Given the description of an element on the screen output the (x, y) to click on. 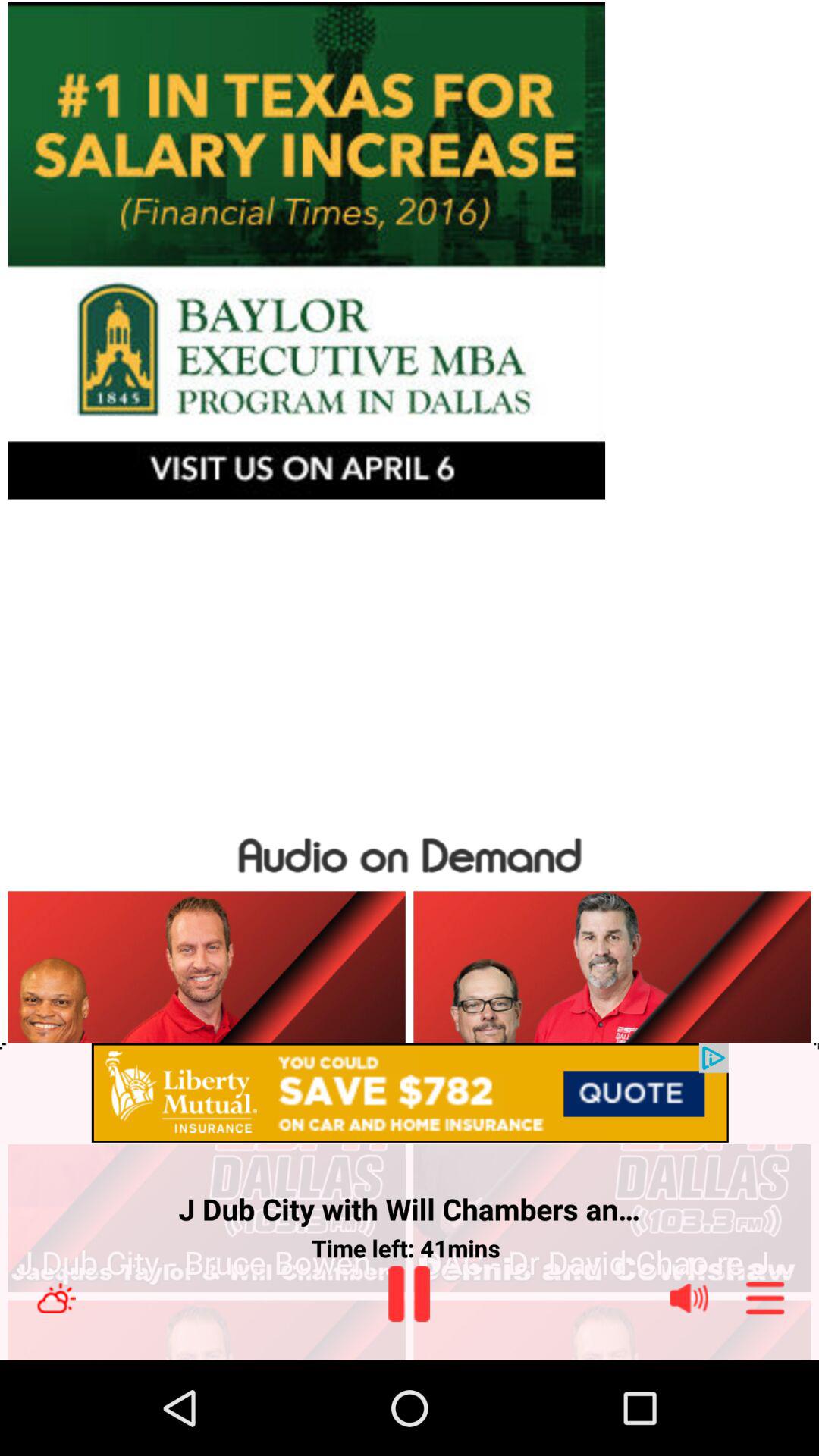
volume control (688, 1298)
